Given the description of an element on the screen output the (x, y) to click on. 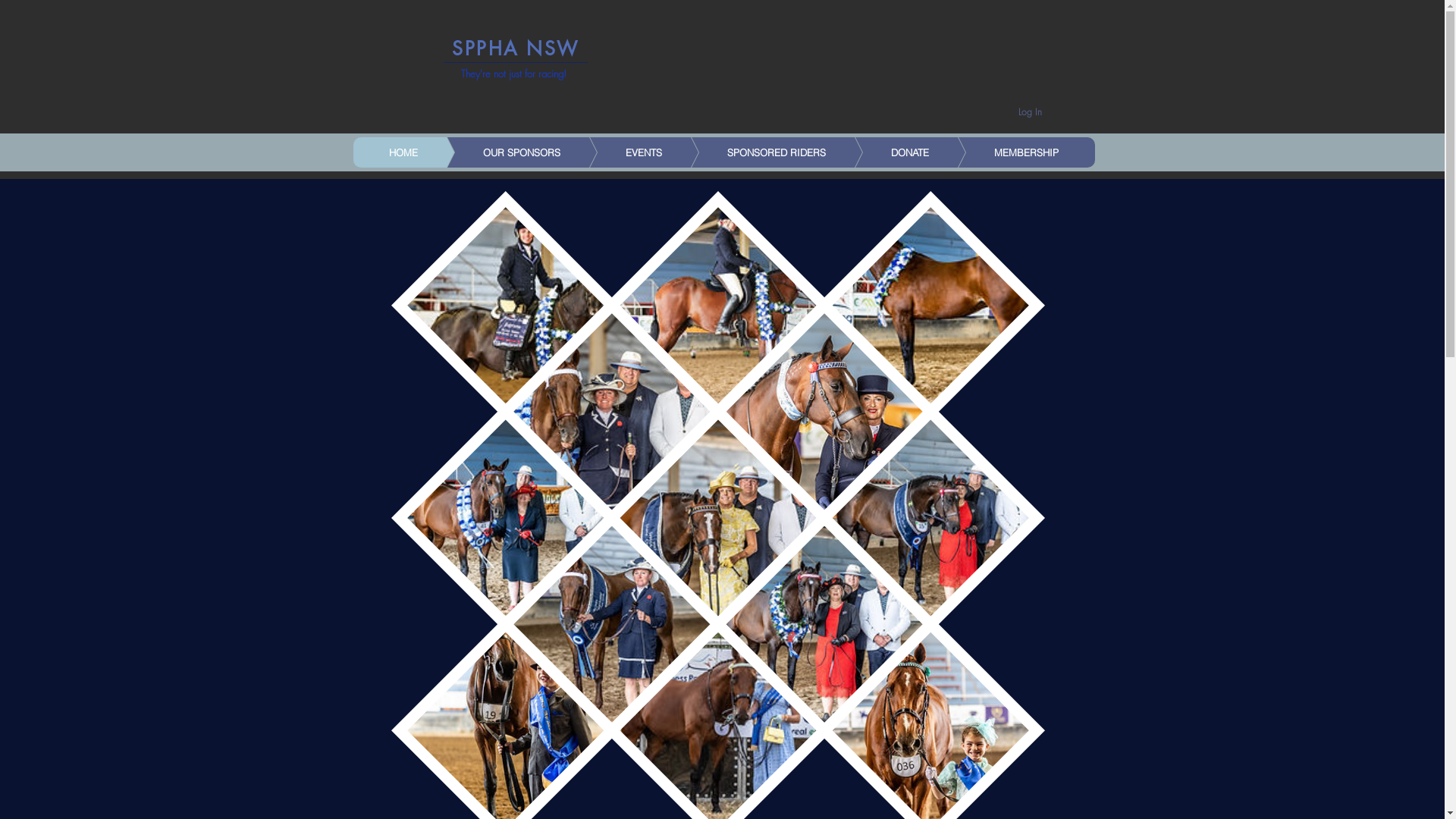
OUR SPONSORS Element type: text (498, 152)
MEMBERSHIP Element type: text (1004, 152)
HOME Element type: text (403, 152)
They're not just for racing! Element type: text (513, 73)
DONATE Element type: text (887, 152)
SPONSORED RIDERS Element type: text (754, 152)
SPPHA NSW Element type: text (515, 48)
EVENTS Element type: text (621, 152)
Log In Element type: text (1029, 112)
